Given the description of an element on the screen output the (x, y) to click on. 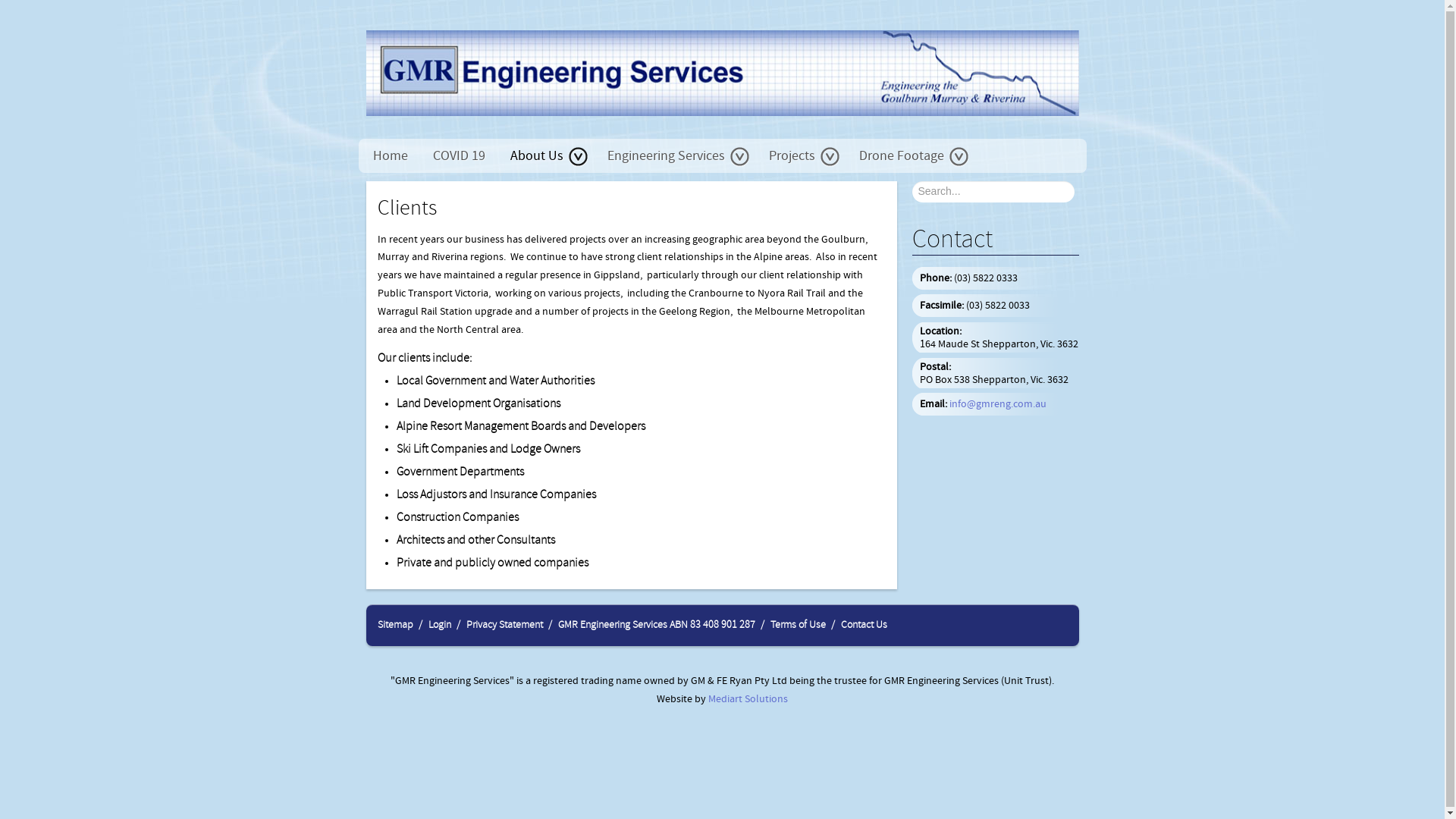
Projects Element type: text (801, 159)
Terms of Use Element type: text (797, 624)
Home Element type: text (390, 159)
Login Element type: text (438, 624)
Mediart Solutions Element type: text (746, 699)
COVID 19 Element type: text (458, 159)
About Us Element type: text (545, 159)
GMR Engineering Services ABN 83 408 901 287 Element type: text (656, 624)
Engineering Services Element type: text (674, 159)
Sitemap Element type: text (395, 624)
info@gmreng.com.au Element type: text (997, 404)
Privacy Statement Element type: text (503, 624)
Drone Footage Element type: text (910, 159)
Contact Us Element type: text (863, 624)
